Given the description of an element on the screen output the (x, y) to click on. 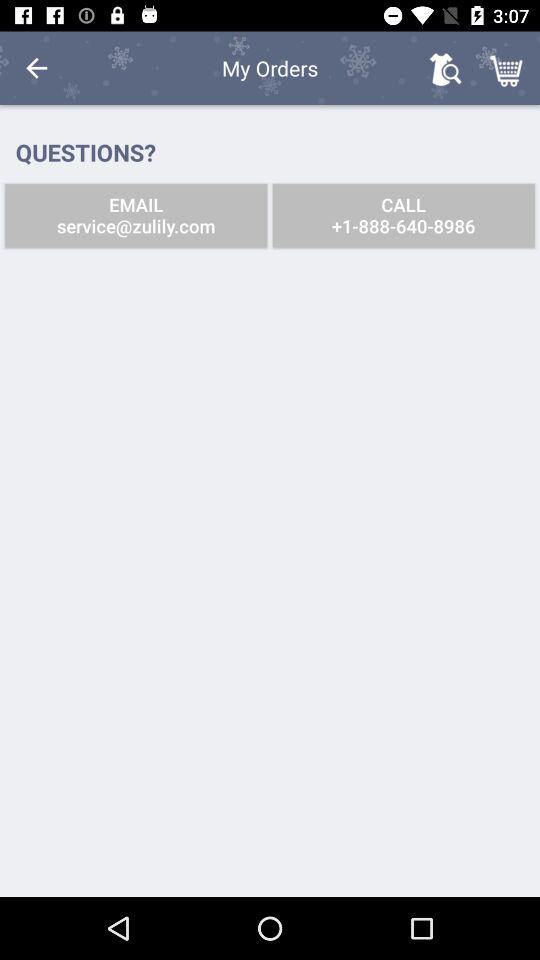
press item to the right of the my orders item (444, 67)
